Given the description of an element on the screen output the (x, y) to click on. 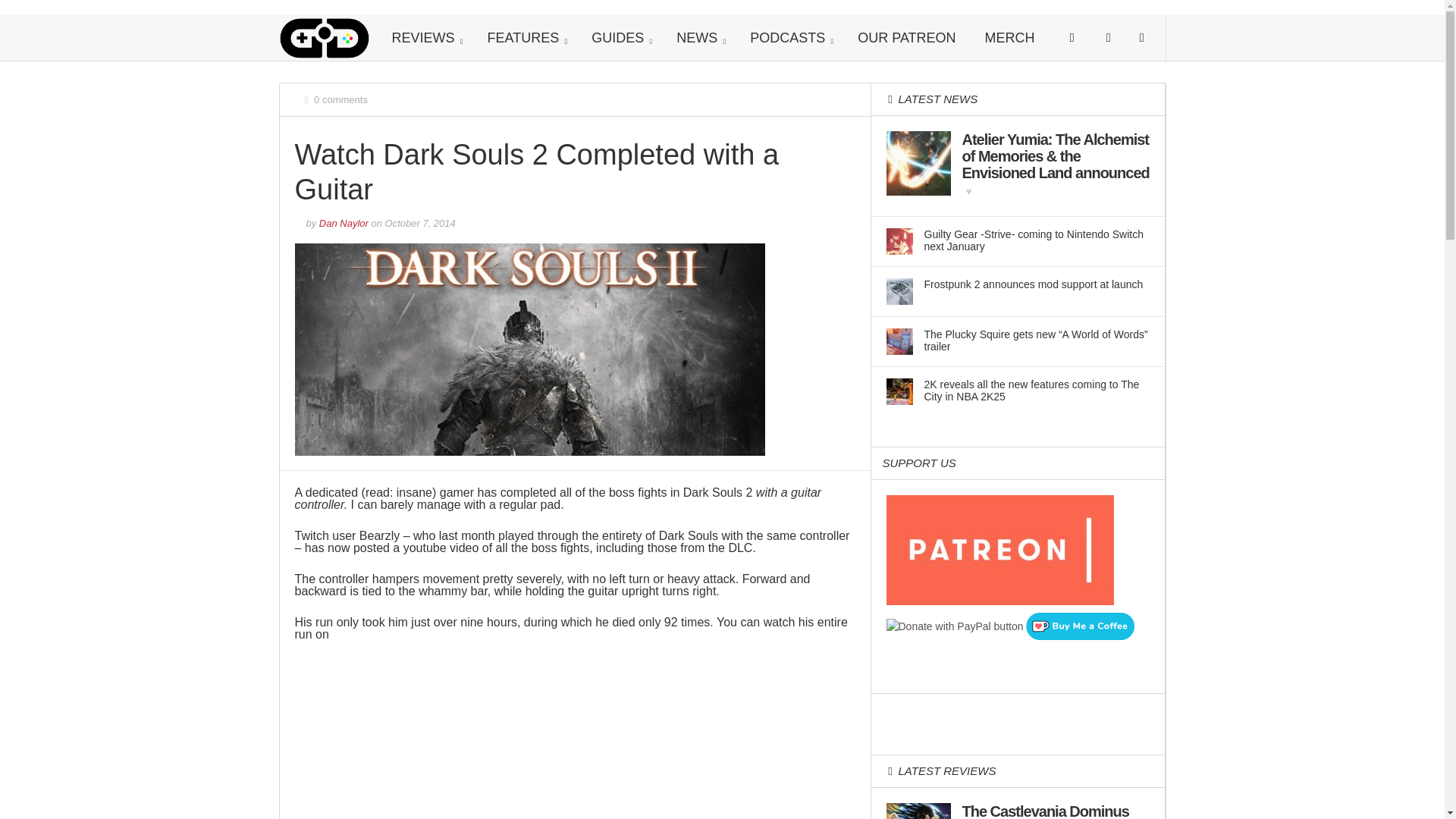
GUIDES (619, 37)
PODCASTS (789, 37)
FEATURES (525, 37)
REVIEWS (425, 37)
NEWS (698, 37)
